Given the description of an element on the screen output the (x, y) to click on. 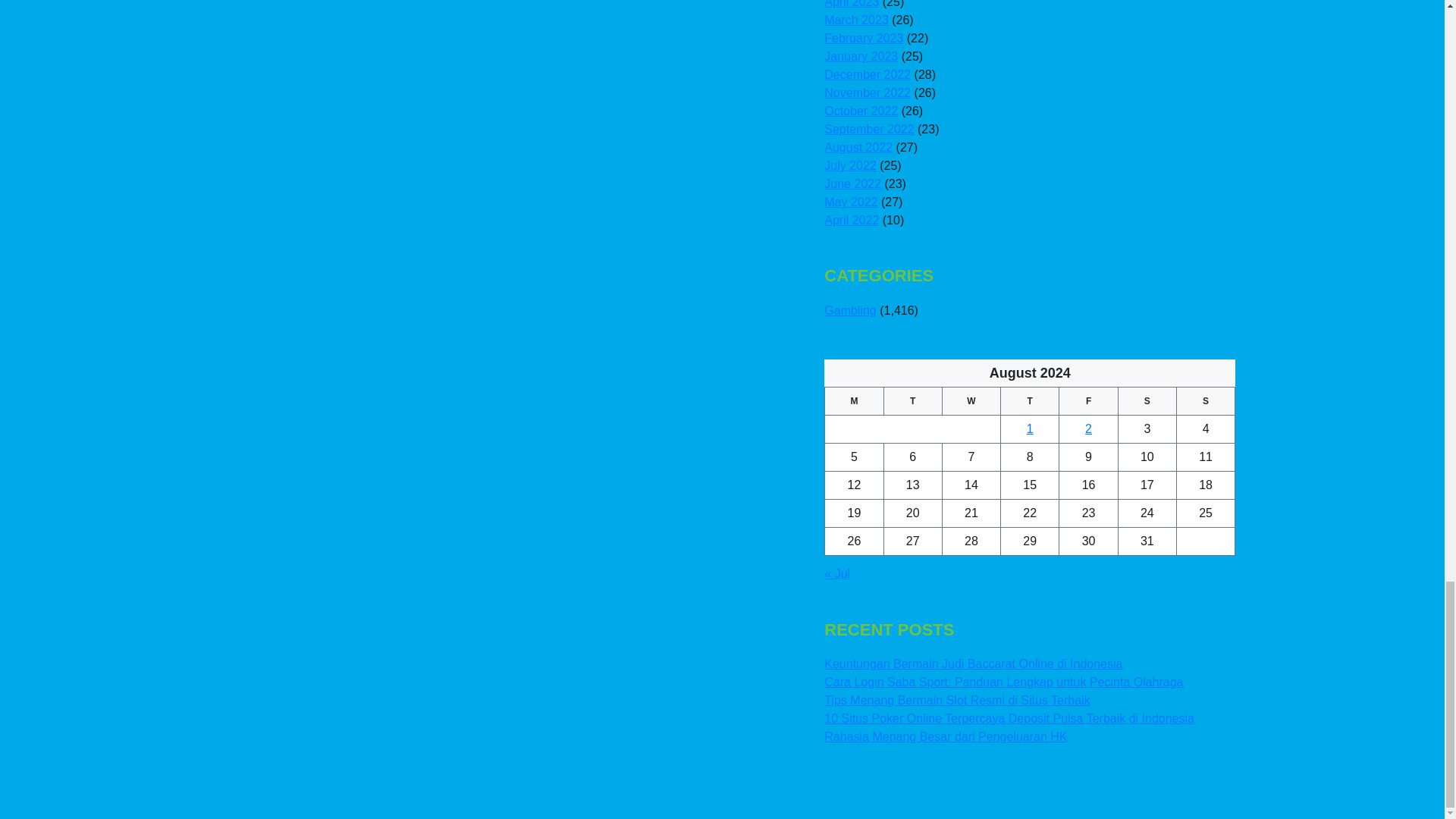
January 2023 (861, 56)
Wednesday (971, 400)
December 2022 (867, 74)
March 2023 (856, 19)
Sunday (1205, 400)
Friday (1088, 400)
April 2023 (851, 4)
Thursday (1030, 400)
May 2022 (850, 201)
Gambling (850, 309)
September 2022 (869, 128)
Tuesday (912, 400)
August 2022 (858, 146)
April 2022 (851, 219)
July 2022 (850, 164)
